Given the description of an element on the screen output the (x, y) to click on. 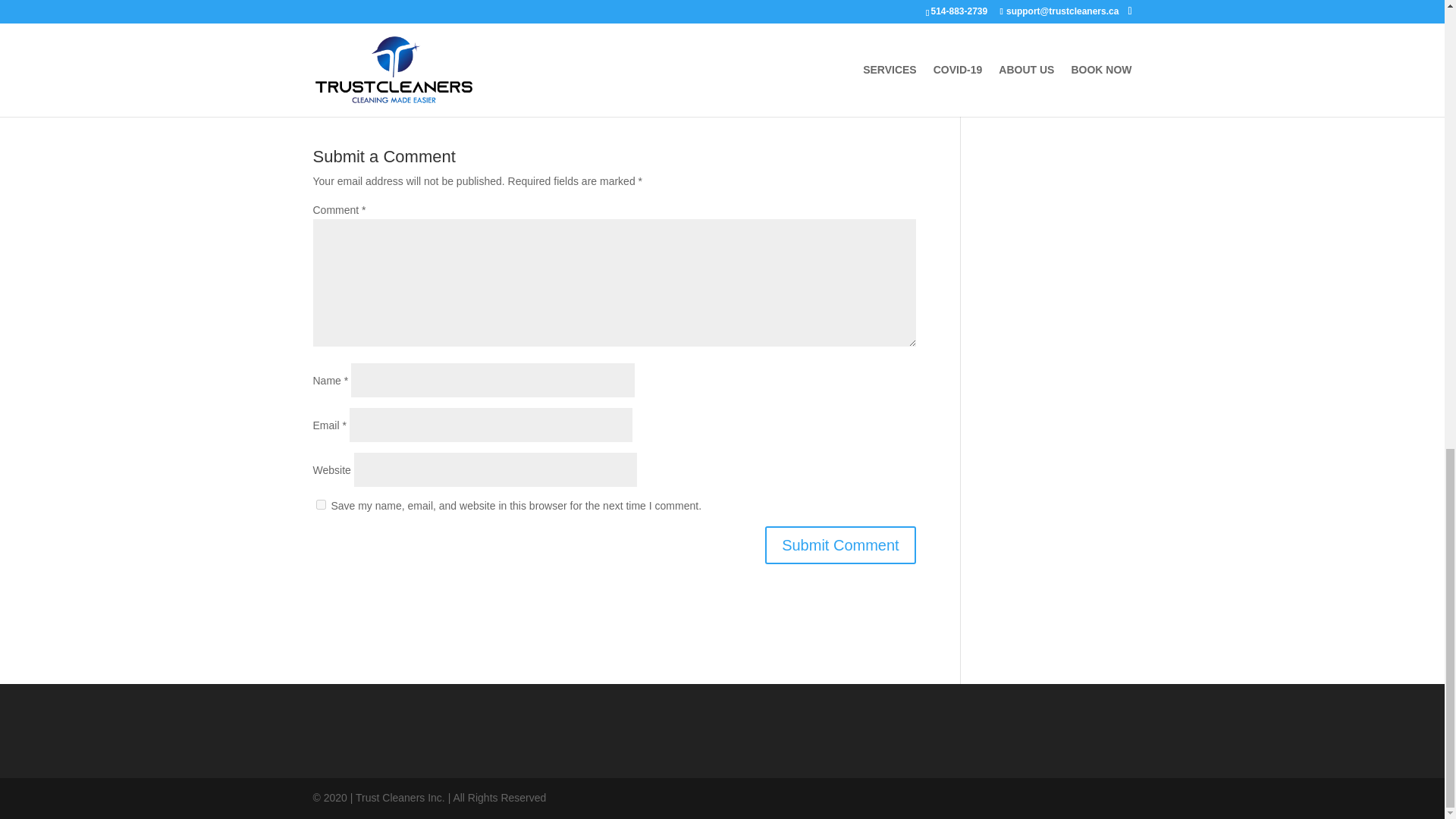
Submit Comment (840, 545)
Submit Comment (840, 545)
yes (319, 504)
